Given the description of an element on the screen output the (x, y) to click on. 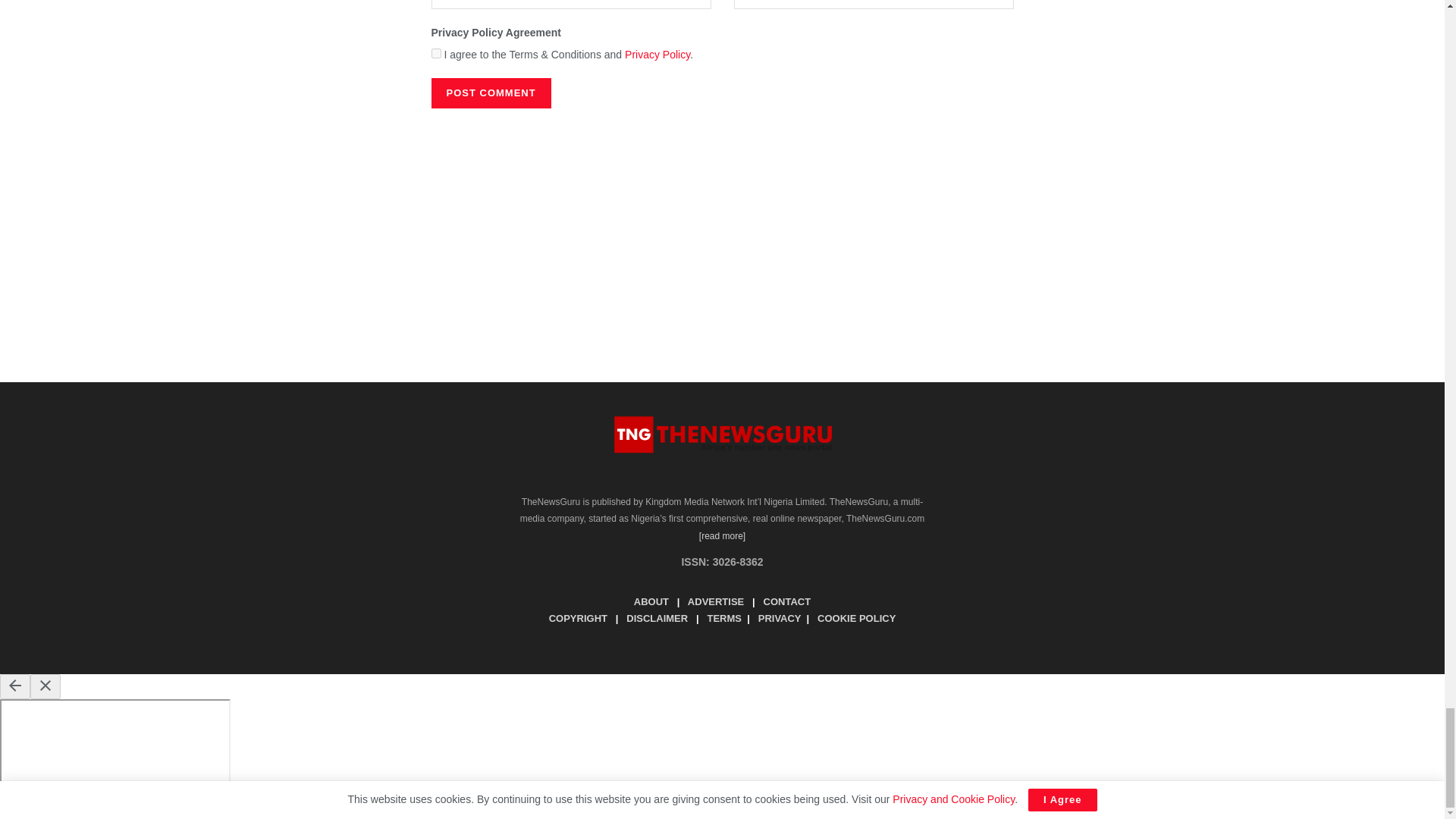
on (435, 53)
Post Comment (490, 92)
